Given the description of an element on the screen output the (x, y) to click on. 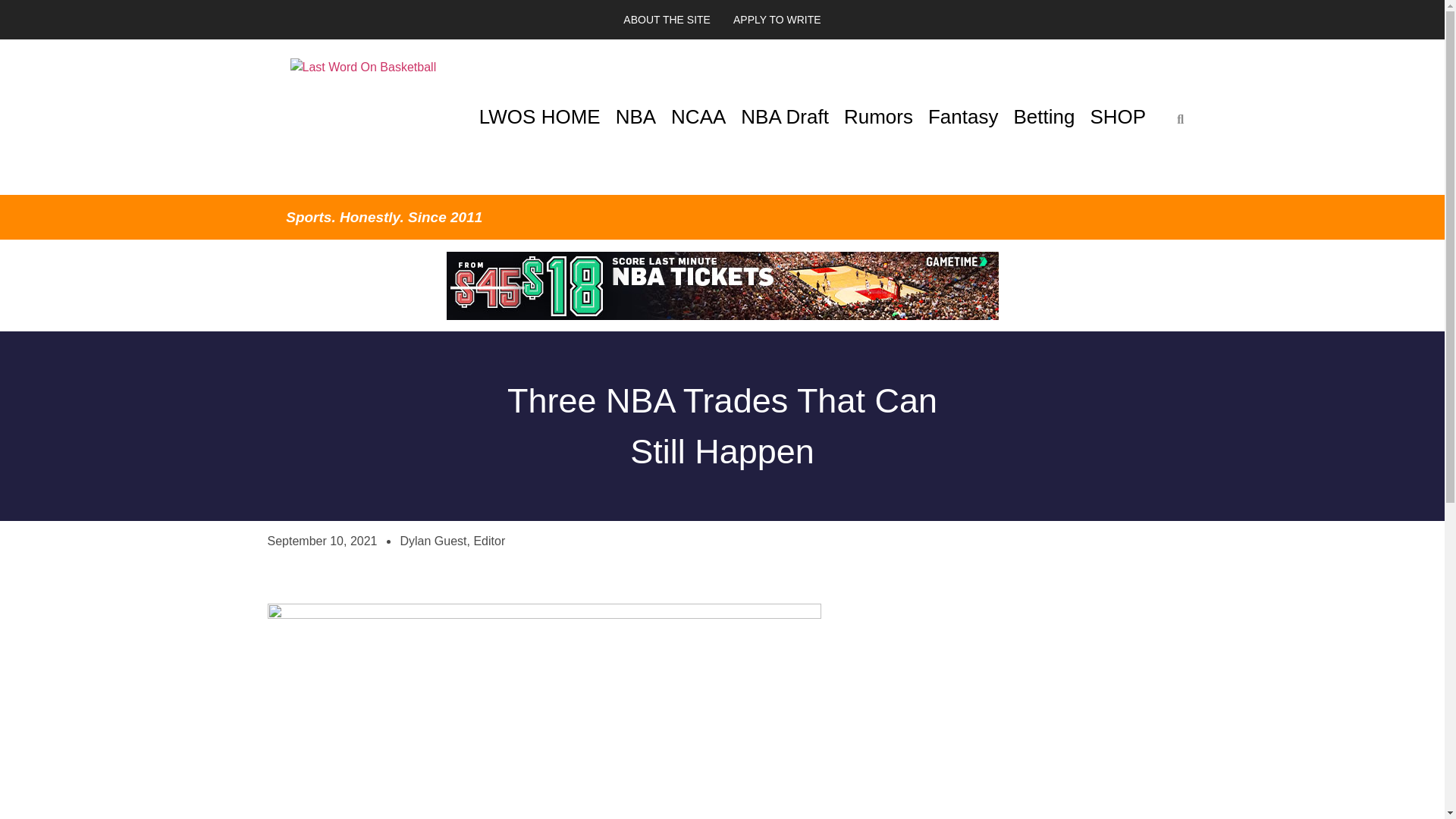
APPLY TO WRITE (777, 19)
ABOUT THE SITE (667, 19)
